Given the description of an element on the screen output the (x, y) to click on. 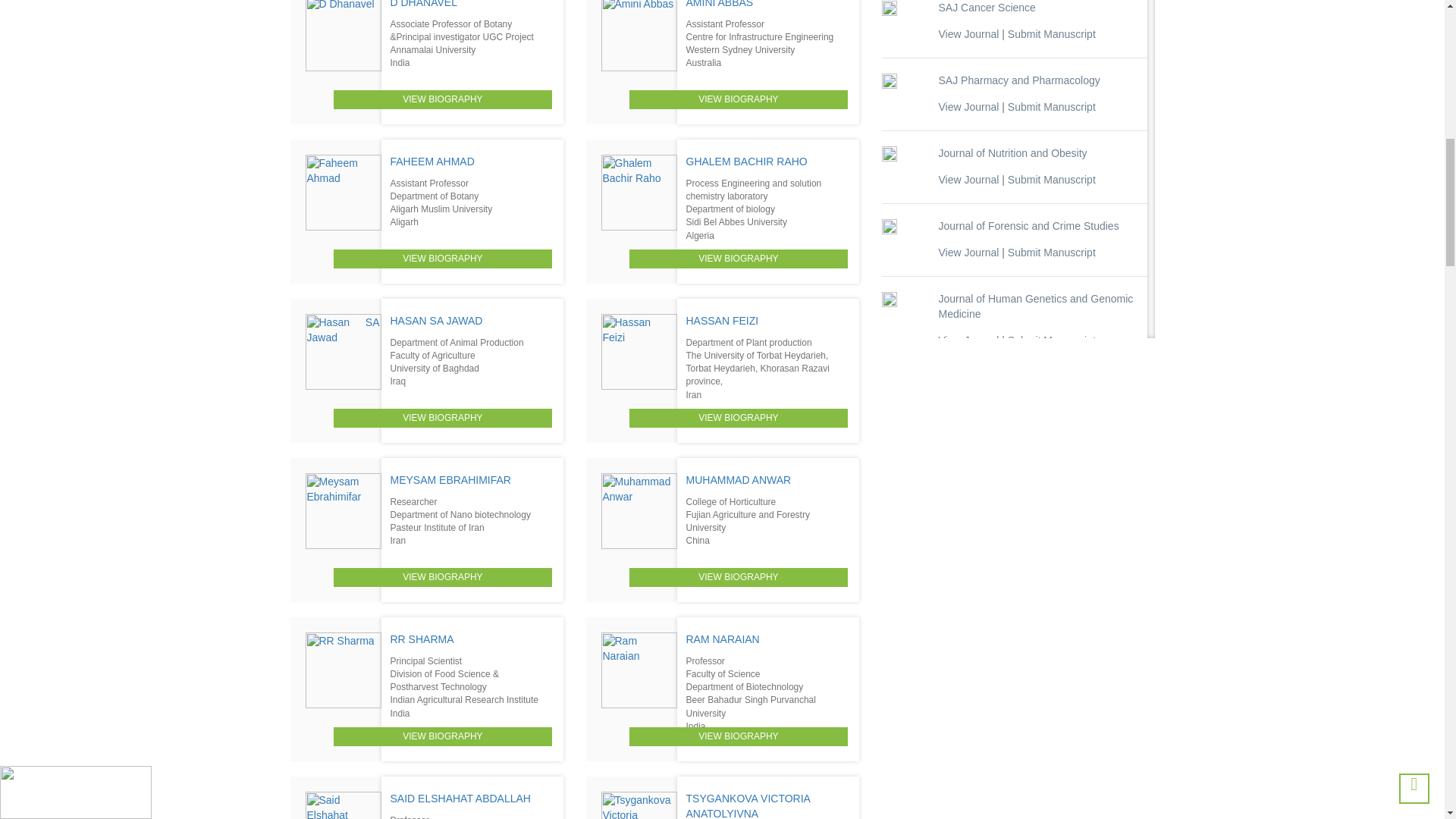
D Dhanavel (342, 35)
Amini Abbas (638, 35)
FAHEEM AHMAD (432, 161)
Faheem Ahmad (342, 192)
RR Sharma (342, 670)
AMINI ABBAS (718, 4)
VIEW BIOGRAPHY (737, 99)
Hasan SA Jawad (342, 351)
Meysam Ebrahimifar (342, 510)
Muhammad Anwar (638, 510)
